Given the description of an element on the screen output the (x, y) to click on. 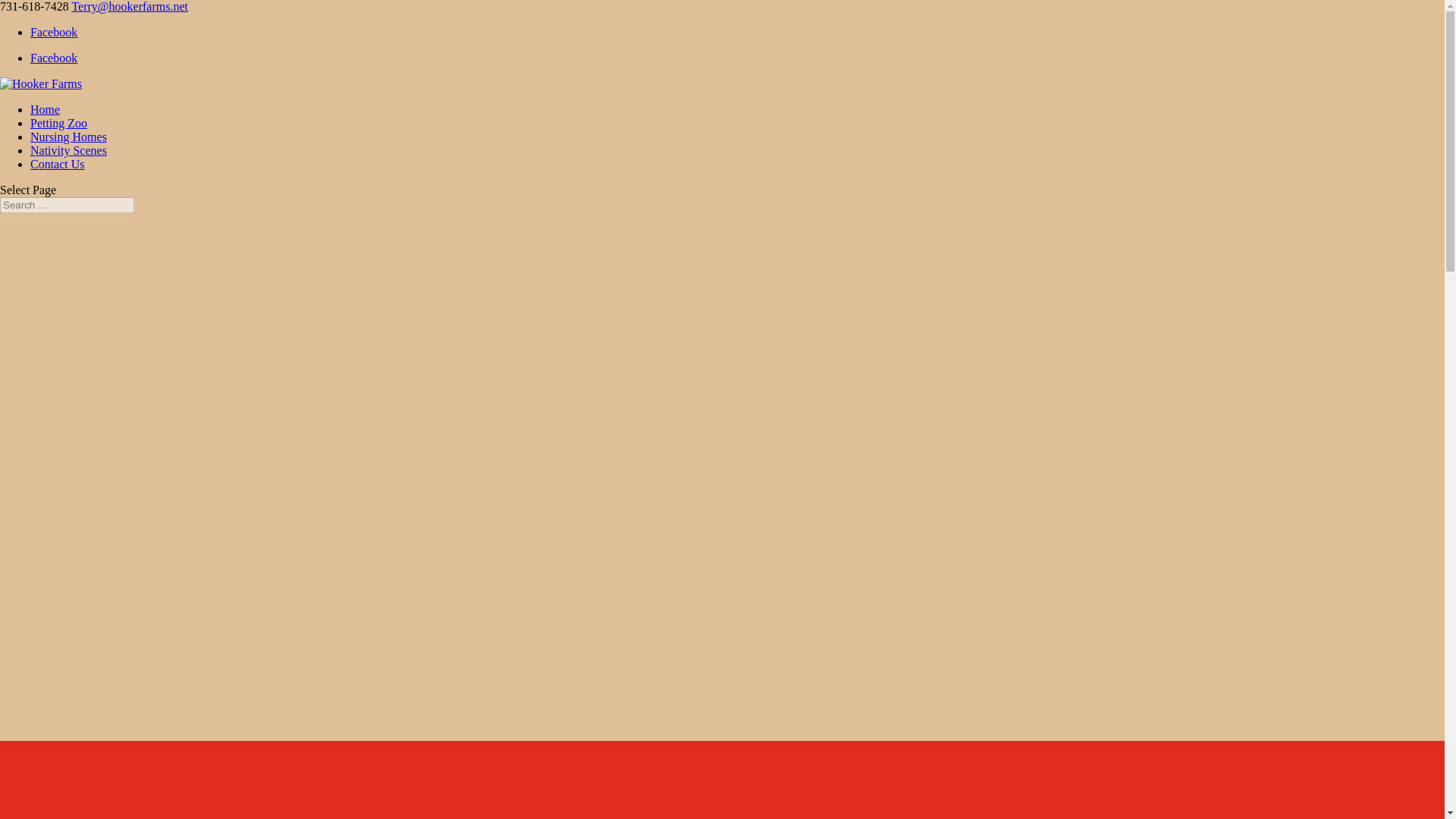
Nativity Scenes (68, 150)
Search for: (66, 204)
Nursing Homes (68, 136)
Petting Zoo (58, 123)
Facebook (53, 57)
Facebook (53, 31)
Home (44, 109)
Contact Us (57, 164)
